Given the description of an element on the screen output the (x, y) to click on. 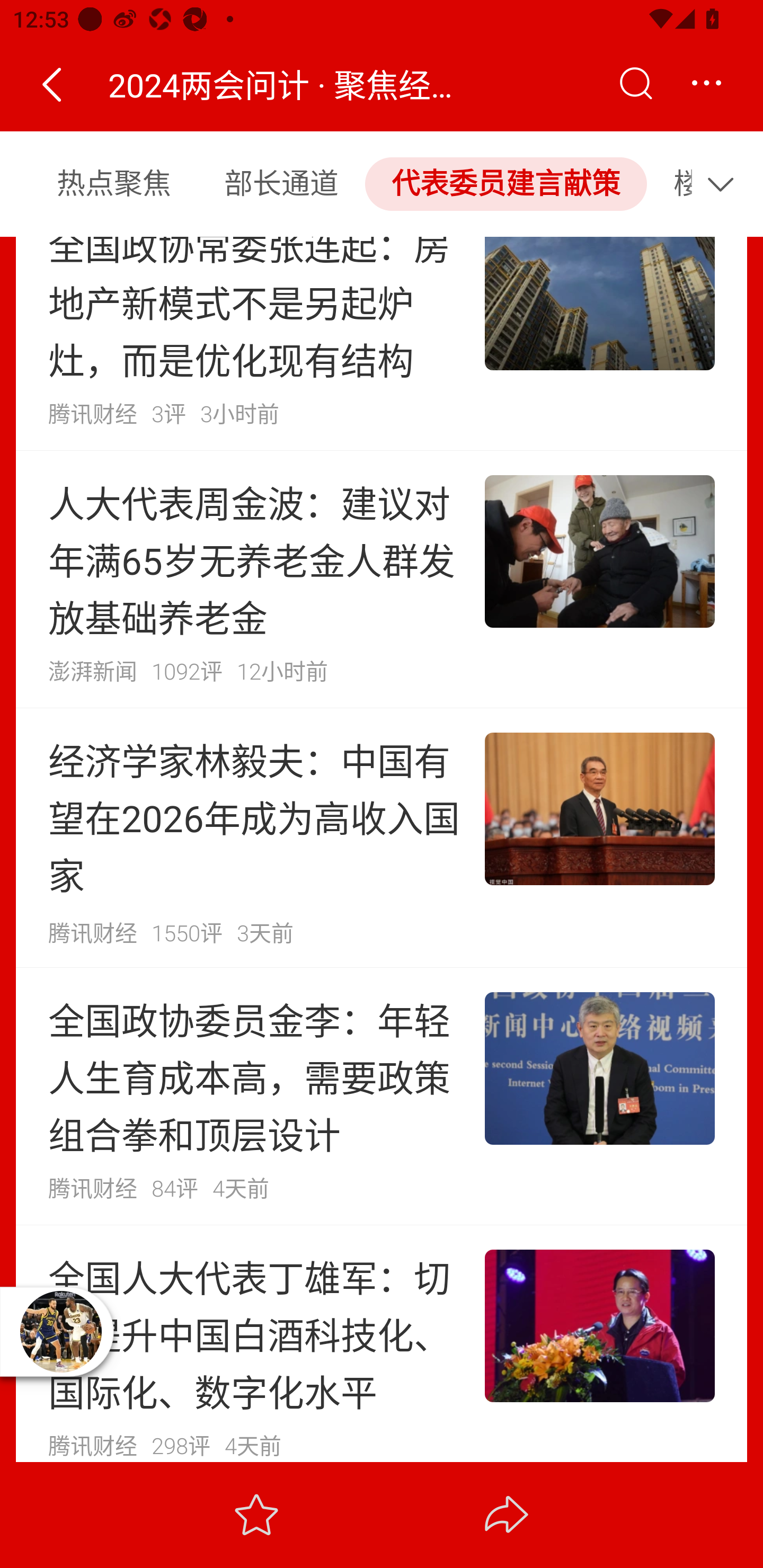
 (50, 83)
 (634, 83)
 (705, 83)
热点聚焦 (113, 183)
部长通道 (280, 183)
代表委员建言献策 (505, 183)
 (724, 183)
全国政协常委张连起：房地产新模式不是另起炉灶，而是优化现有结构 腾讯财经 3评 3小时前 (381, 343)
人大代表周金波：建议对年满65岁无养老金人群发放基础养老金 澎湃新闻 1092评 12小时前 (381, 579)
经济学家林毅夫：中国有望在2026年成为高收入国家 腾讯财经 1550评 3天前 (381, 837)
全国政协委员金李：年轻人生育成本高，需要政策组合拳和顶层设计 腾讯财经 84评 4天前 (381, 1095)
全国人大代表丁雄军：切实提升中国白酒科技化、国际化、数字化水平 腾讯财经 298评 4天前 (381, 1342)
播放器 (60, 1331)
收藏  (255, 1514)
分享  (506, 1514)
